Given the description of an element on the screen output the (x, y) to click on. 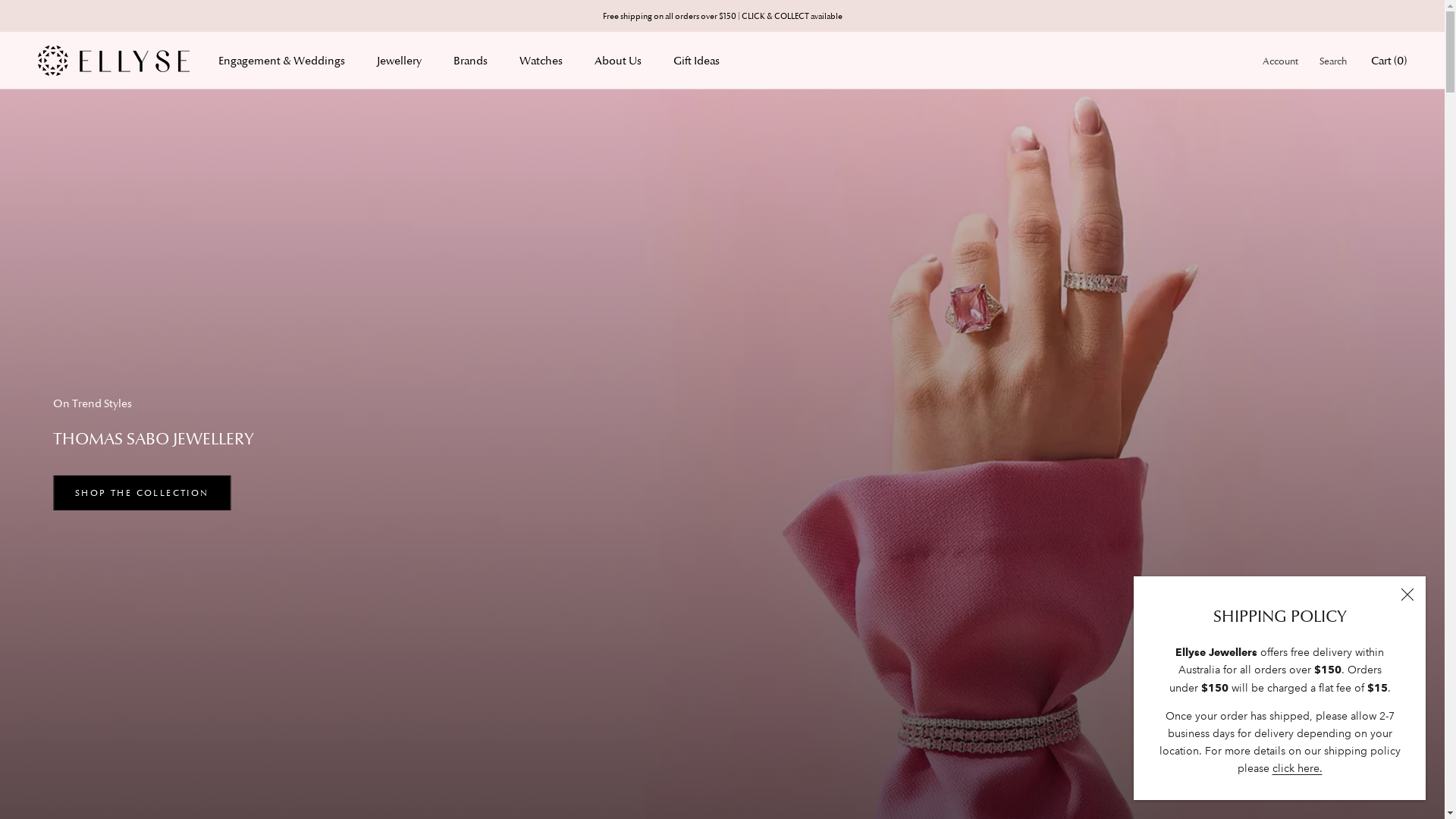
Watches
Watches Element type: text (540, 60)
SHOP THE COLLECTION Element type: text (142, 492)
Jewellery
Jewellery Element type: text (398, 60)
Search Element type: text (1332, 61)
Account Element type: text (1280, 61)
Brands
Brands Element type: text (470, 60)
About Us
About Us Element type: text (617, 60)
Engagement & Weddings
Engagement & Weddings Element type: text (281, 60)
click here. Element type: text (1297, 768)
Gift Ideas
Gift Ideas Element type: text (696, 60)
Cart (0) Element type: text (1388, 60)
